Given the description of an element on the screen output the (x, y) to click on. 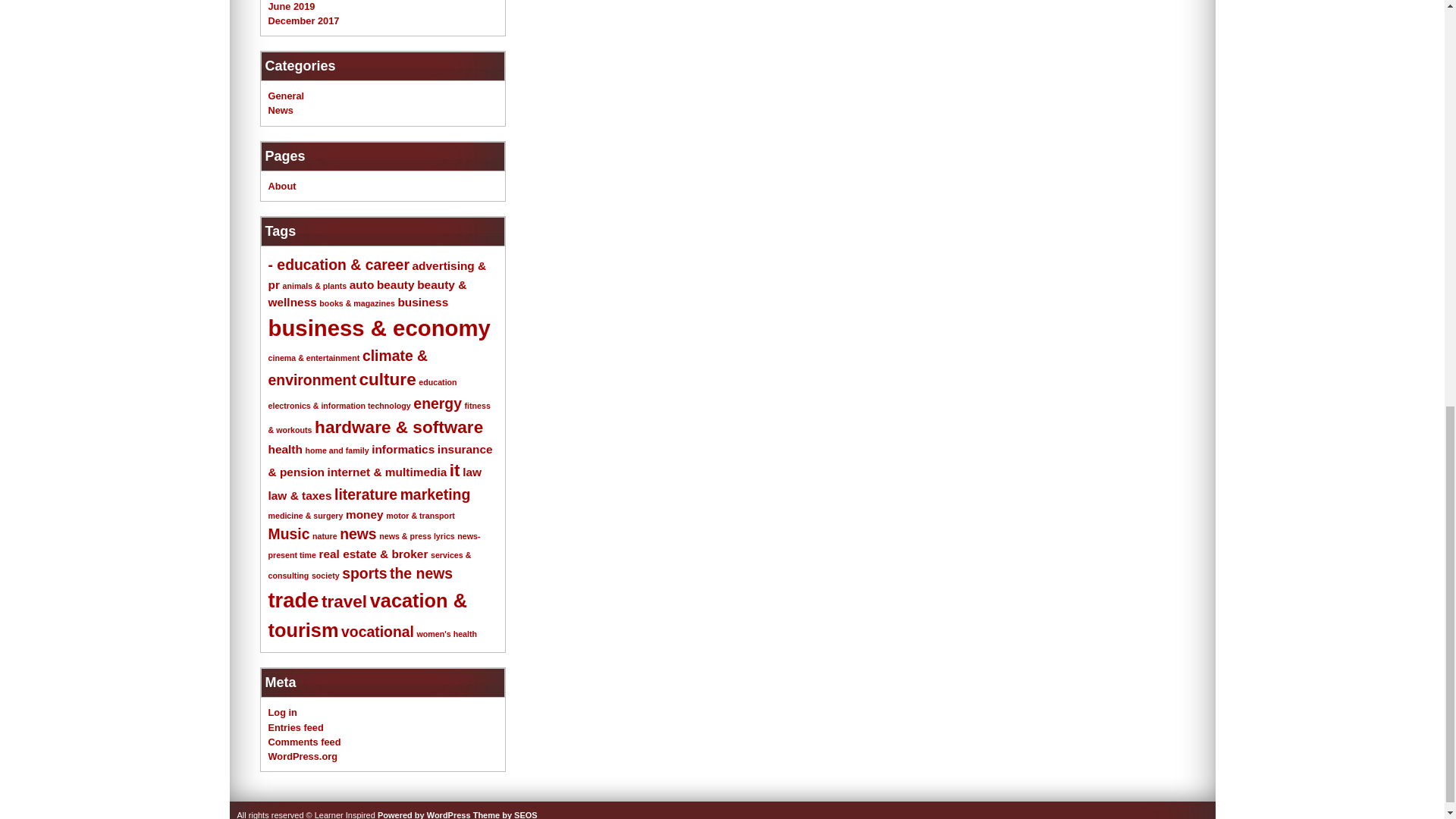
Seos free wordpress themes (505, 814)
